Given the description of an element on the screen output the (x, y) to click on. 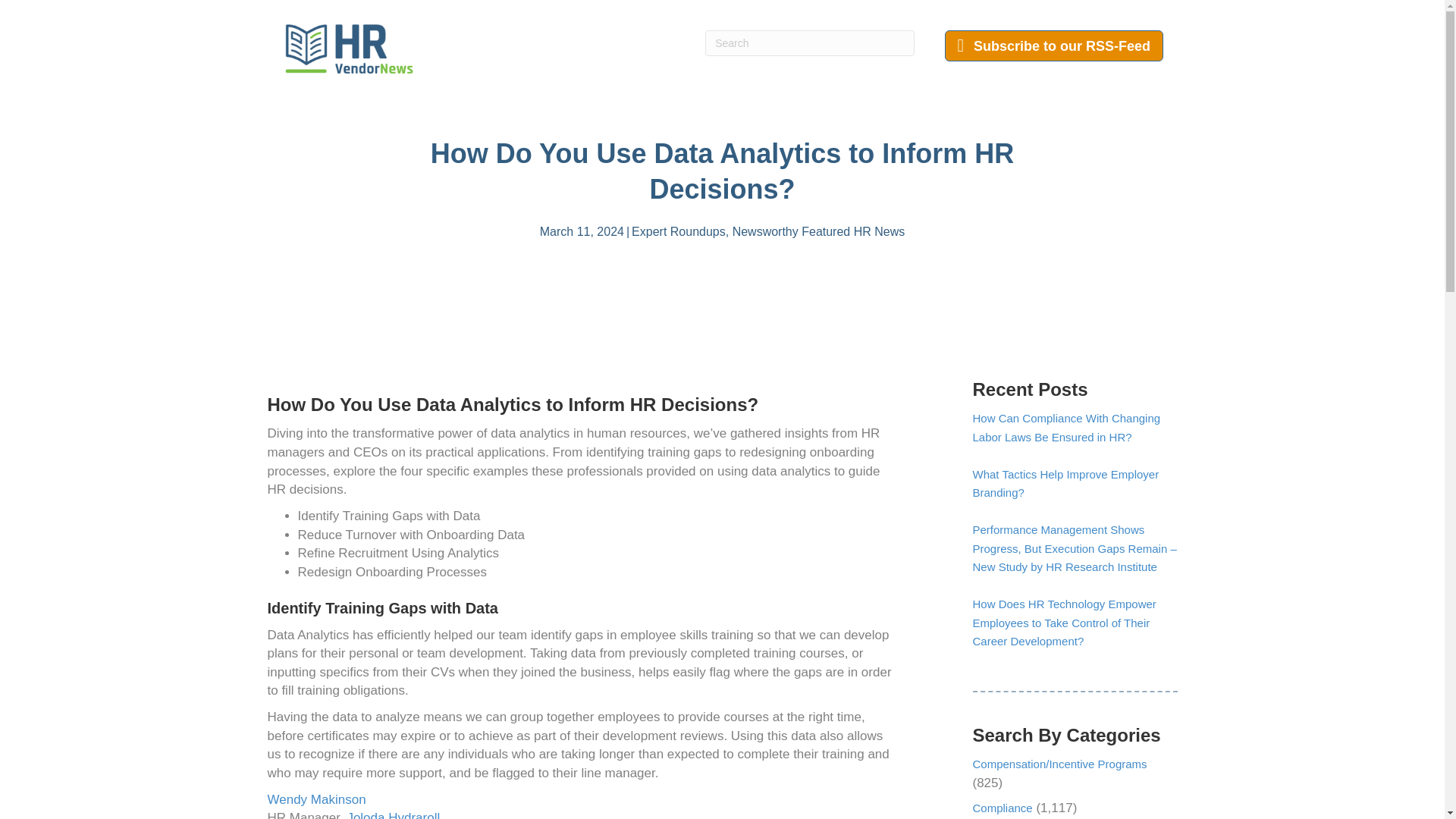
Expert Roundups (678, 231)
Compliance (1002, 807)
Type and press Enter to search. (809, 43)
HR Logo color (348, 48)
Newsworthy Featured HR News (818, 231)
Joloda Hydraroll (392, 814)
Wendy Makinson (315, 799)
Subscribe to our RSS-Feed (1053, 45)
